Given the description of an element on the screen output the (x, y) to click on. 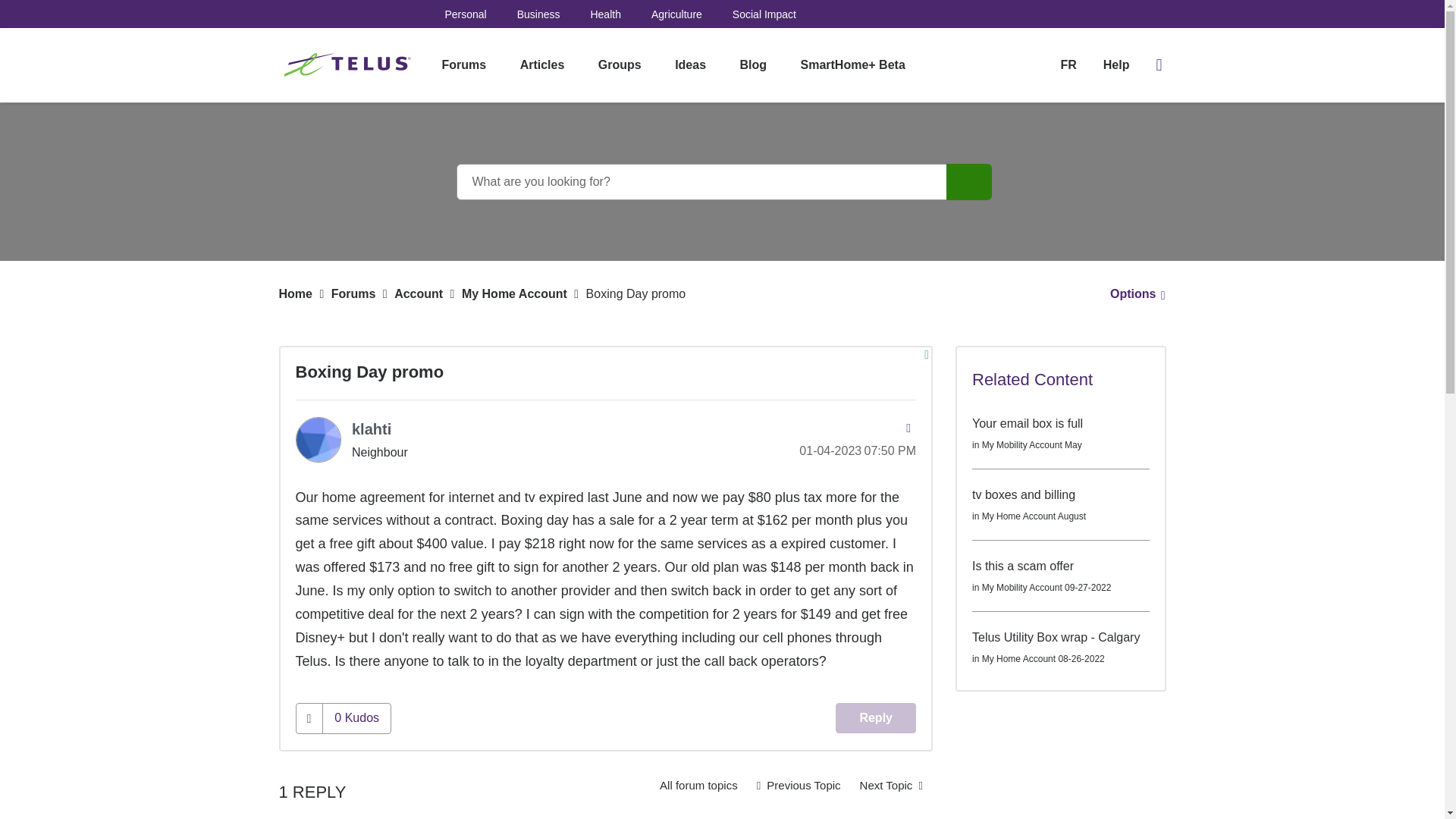
Click here to give kudos to this post. (309, 718)
Help (1116, 64)
My Home Account (698, 785)
Business (538, 14)
Show option menu (1133, 294)
Blog (754, 64)
Search (722, 181)
TELUS Neighbourhood (348, 64)
When did Telus become IMPOSSIBLE to work with? (891, 785)
FR (1067, 64)
Search (968, 181)
Search (968, 181)
klahti (371, 428)
Home (296, 293)
Ideas (689, 64)
